Given the description of an element on the screen output the (x, y) to click on. 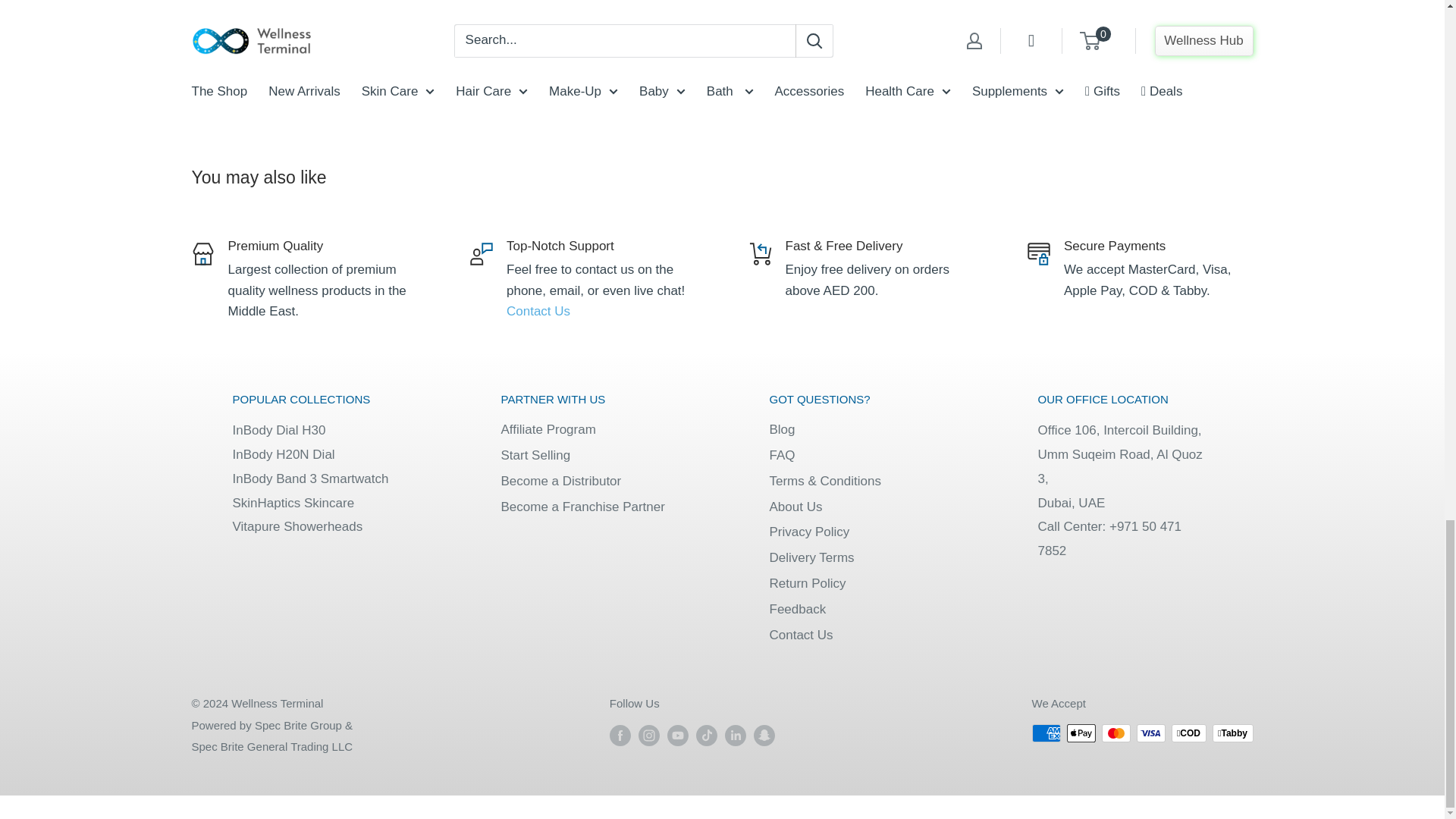
Call Us (1108, 538)
Contact (538, 310)
InBody Band 3 Smartwatch (309, 478)
Transform Your Life with Vitapure (296, 526)
InBody Dial H30 (277, 430)
